Given the description of an element on the screen output the (x, y) to click on. 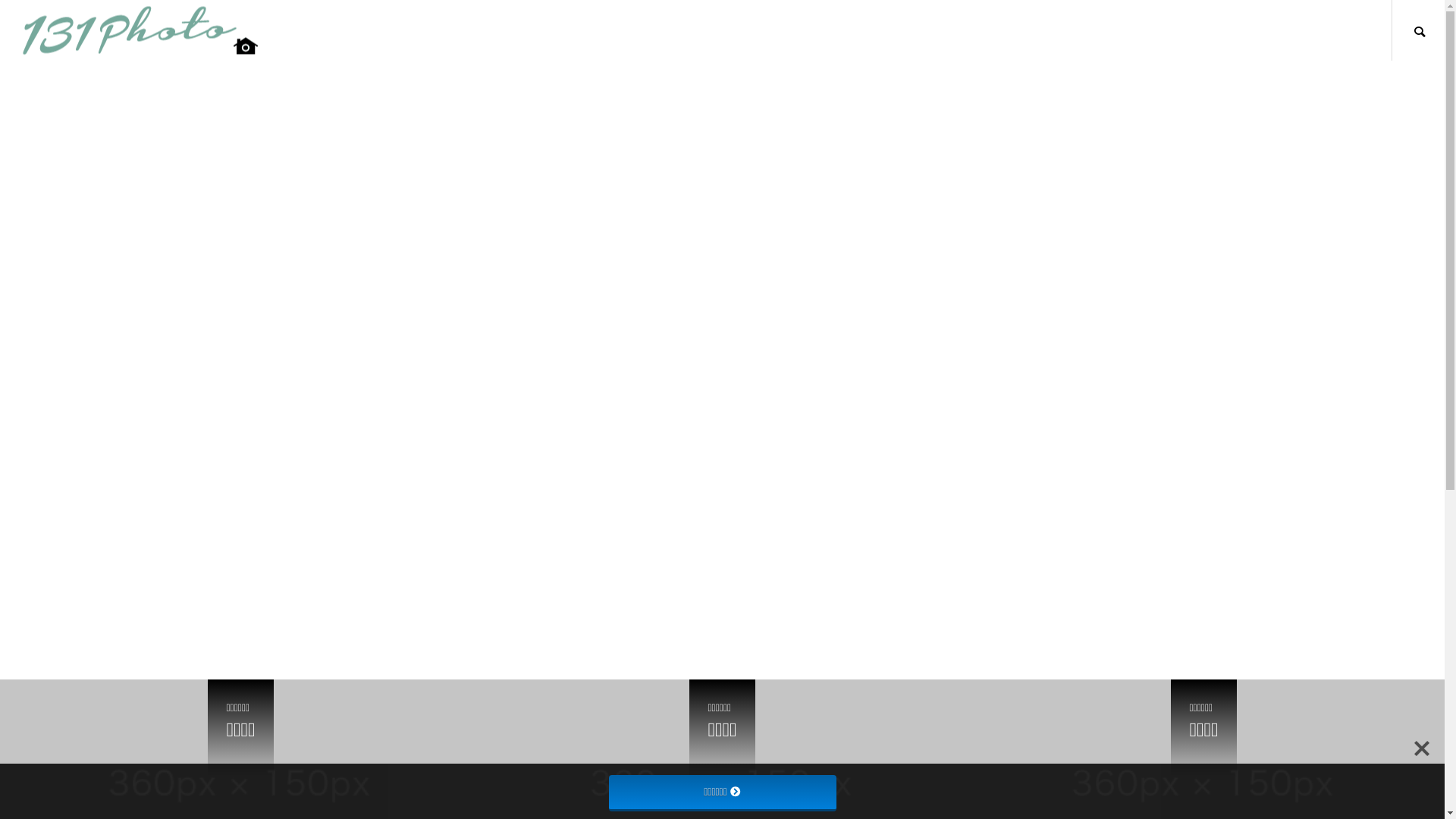
131 Photo Element type: hover (139, 30)
